Given the description of an element on the screen output the (x, y) to click on. 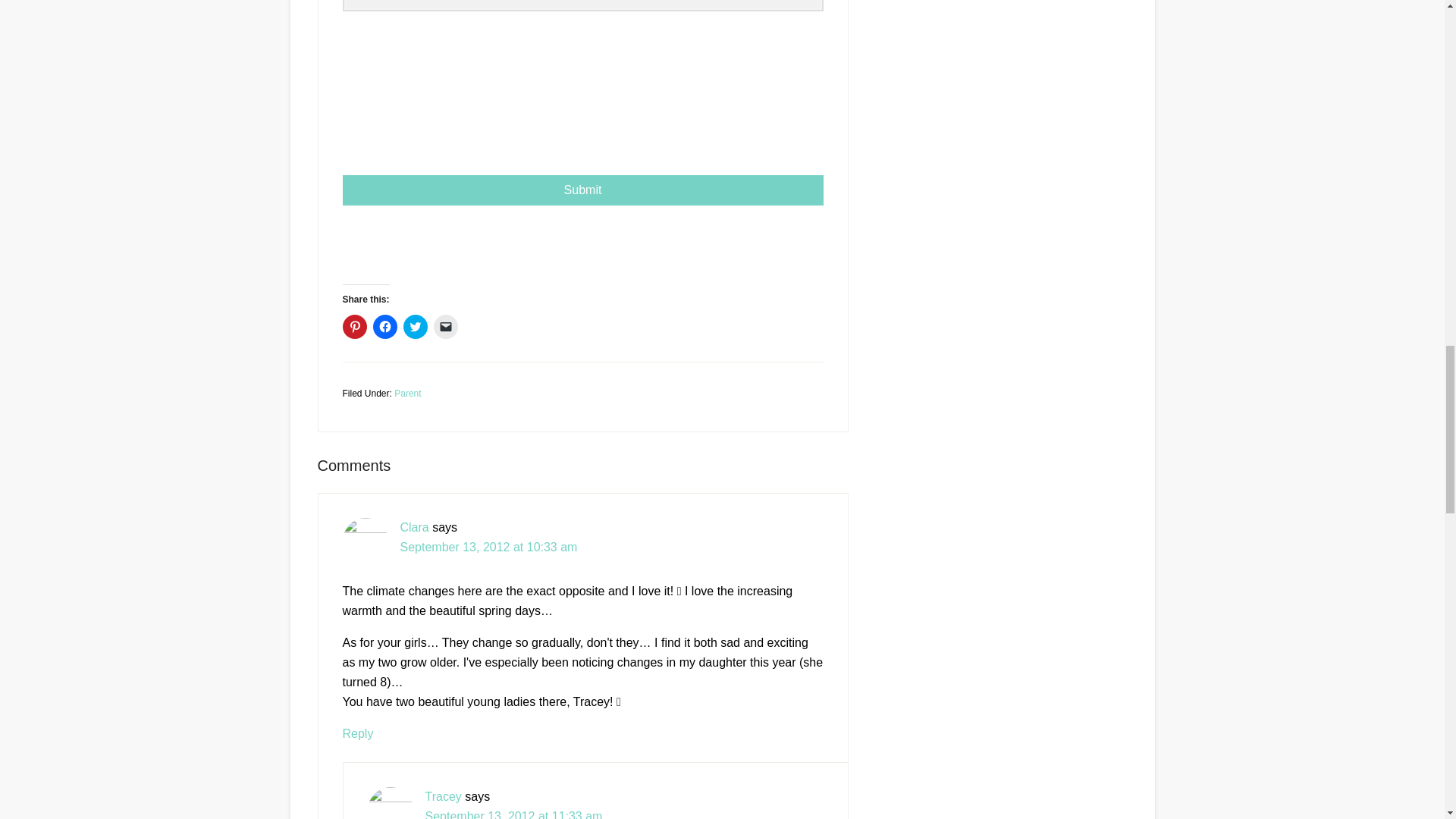
Click to email a link to a friend (445, 326)
Click to share on Twitter (415, 326)
Reply (358, 733)
Click to share on Pinterest (354, 326)
Click to share on Facebook (384, 326)
Parent (407, 393)
Tracey (443, 796)
Submit (583, 190)
Clara (414, 526)
September 13, 2012 at 10:33 am (489, 546)
